Given the description of an element on the screen output the (x, y) to click on. 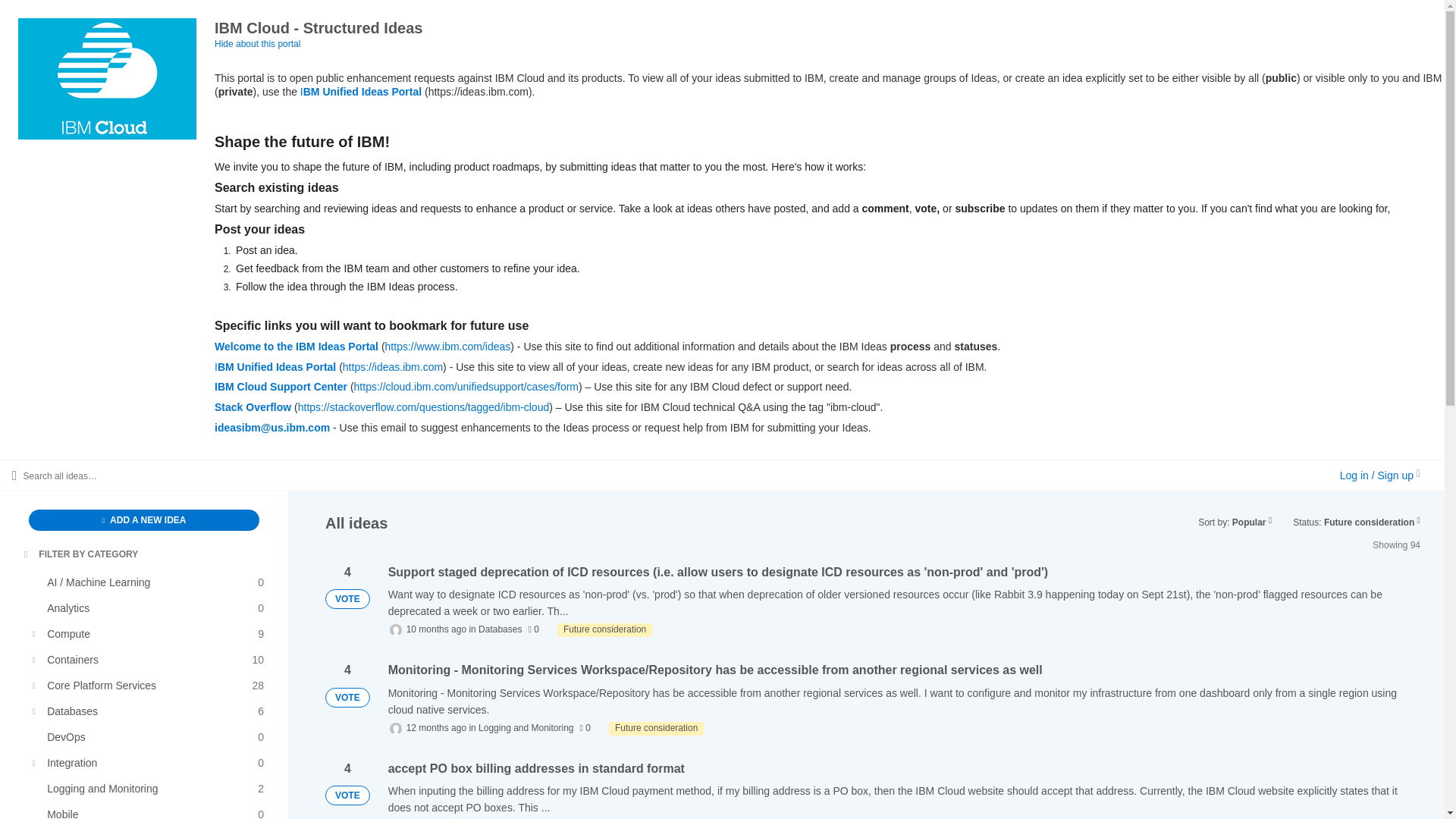
ADD A NEW IDEA (144, 519)
IBM Unified Ideas Portal (360, 91)
IBM Unified Ideas Portal (275, 367)
Hide about this portal (256, 43)
Welcome to the IBM Ideas Portal (296, 346)
FILTER BY CATEGORY (150, 633)
Future consideration (81, 554)
IBM Cloud Support Center (655, 728)
Future consideration (150, 685)
Stack Overflow (150, 659)
